Given the description of an element on the screen output the (x, y) to click on. 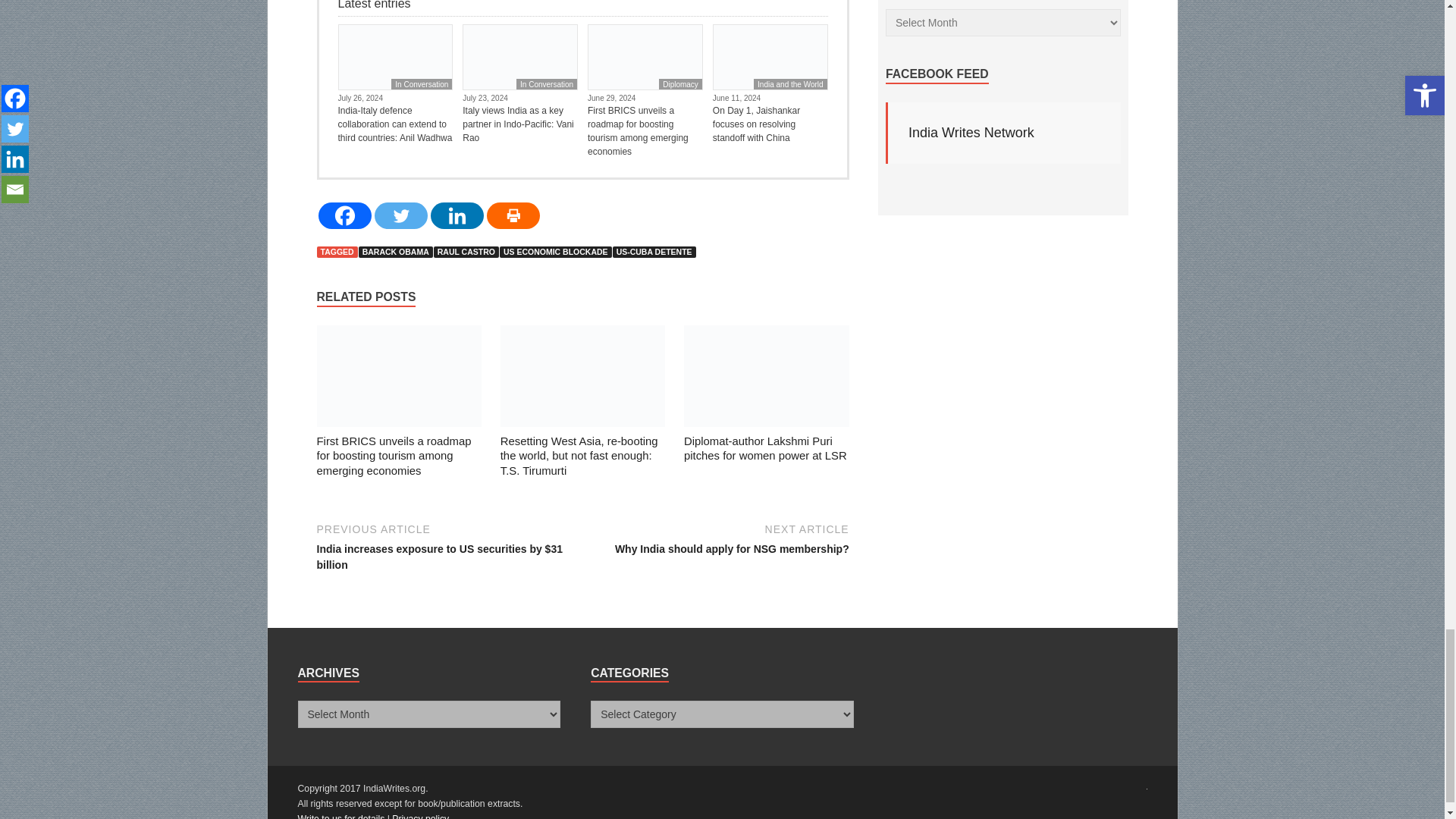
In Conversation (421, 83)
Facebook (344, 215)
Diplomat-author Lakshmi Puri pitches for women power at LSR (766, 378)
Print (513, 215)
In Conversation (546, 83)
Diplomat-author Lakshmi Puri pitches for women power at LSR (765, 447)
Linkedin (456, 215)
Italy views India as a key partner in Indo-Pacific: Vani Rao (520, 124)
Twitter (401, 215)
Diplomacy (680, 83)
